Given the description of an element on the screen output the (x, y) to click on. 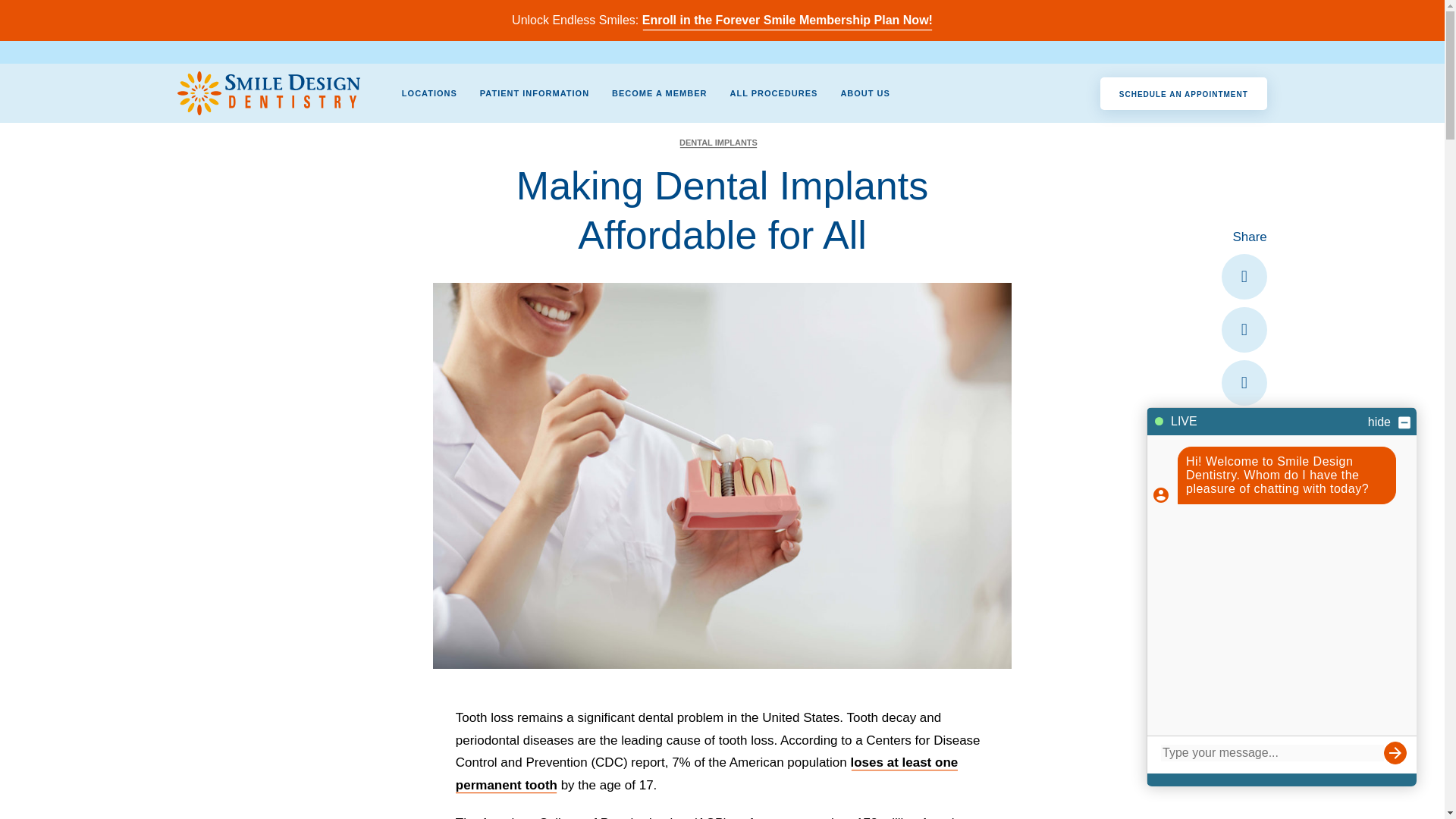
Enroll in the Forever Smile Membership Plan Now! (787, 20)
PATIENT INFORMATION (533, 92)
The Smile Design (268, 93)
Chat window (1281, 596)
LOCATIONS (429, 92)
